Given the description of an element on the screen output the (x, y) to click on. 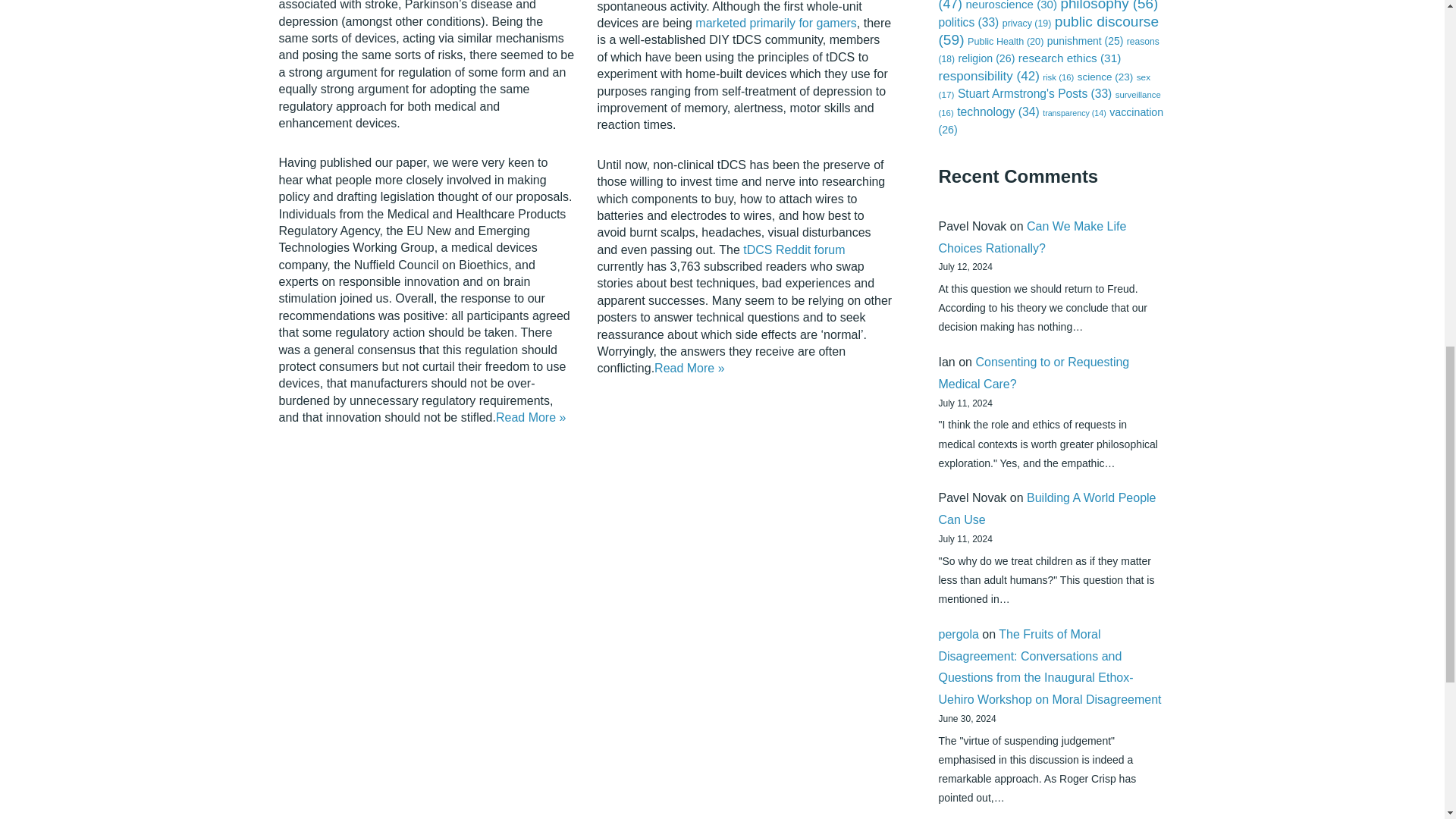
marketed primarily for gamers (776, 22)
tDCS Reddit forum (793, 249)
